Given the description of an element on the screen output the (x, y) to click on. 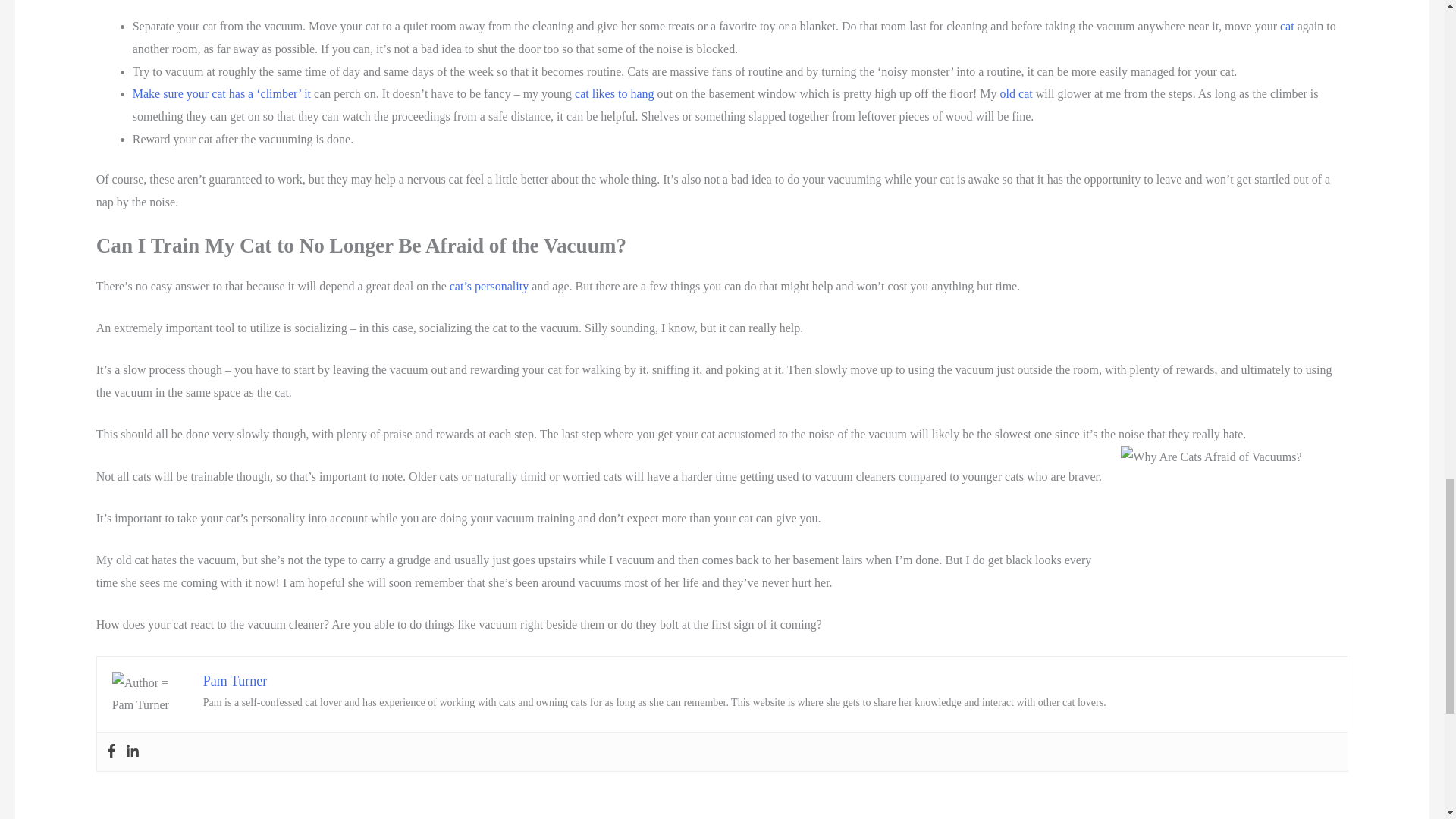
cat likes to hang (614, 92)
Pam Turner (235, 680)
cat (1286, 25)
old cat (1016, 92)
